Given the description of an element on the screen output the (x, y) to click on. 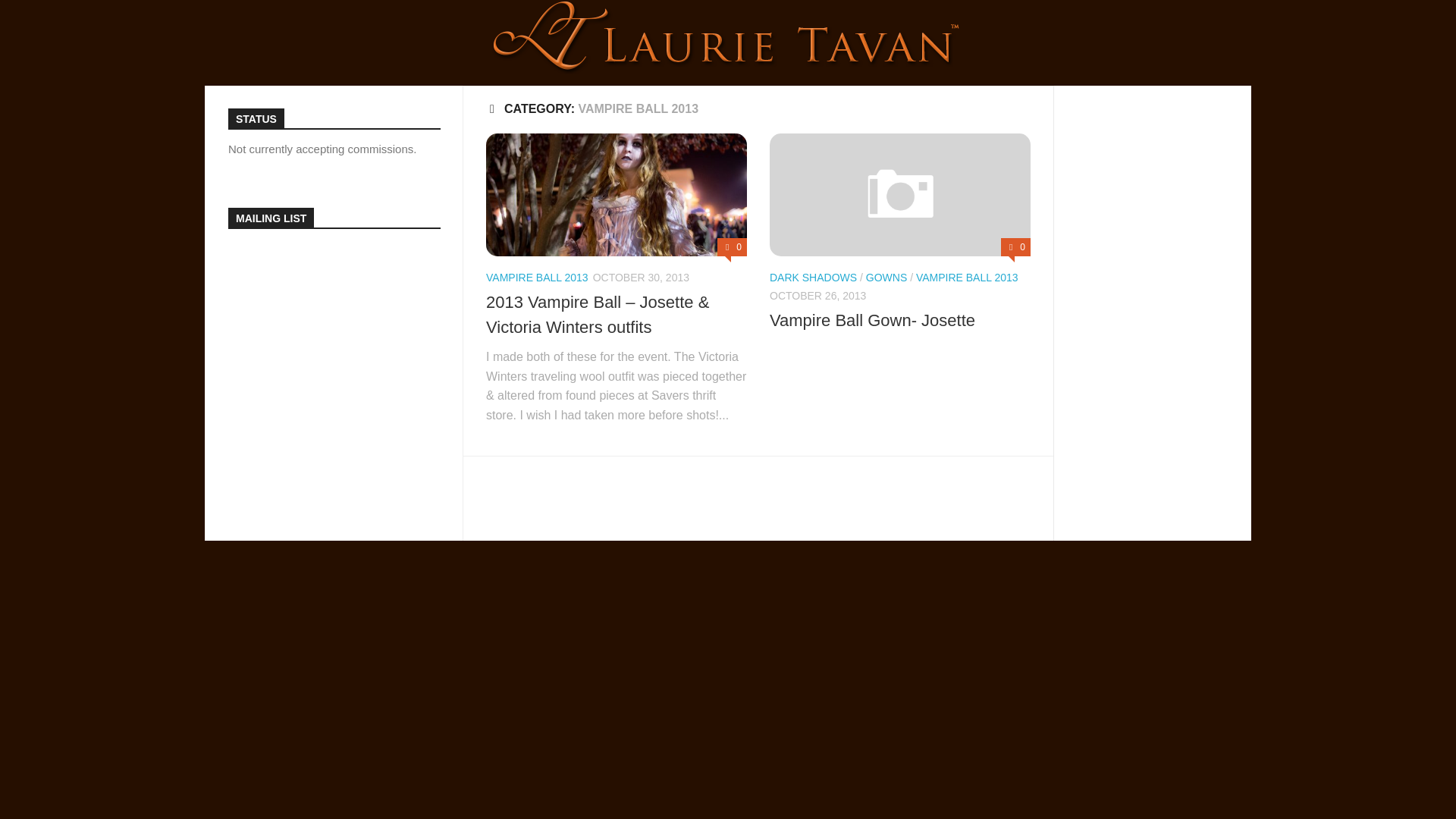
DARK SHADOWS (813, 277)
GOWNS (886, 277)
0 (1015, 247)
Vampire Ball Gown- Josette (872, 320)
VAMPIRE BALL 2013 (966, 277)
VAMPIRE BALL 2013 (537, 277)
0 (731, 247)
